Given the description of an element on the screen output the (x, y) to click on. 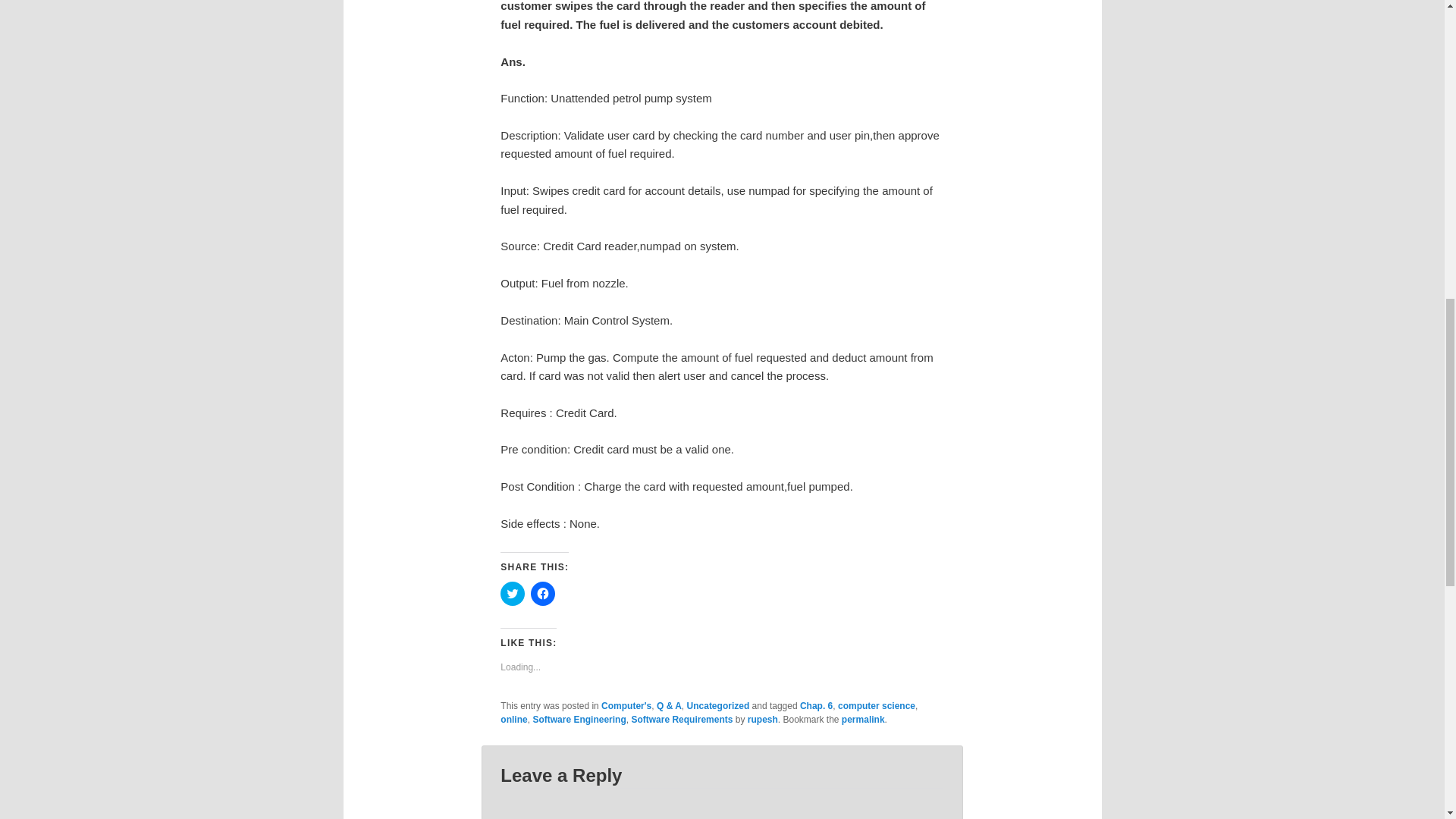
Uncategorized (718, 706)
Computer's (625, 706)
online (513, 719)
Click to share on Twitter (512, 593)
Chap. 6 (815, 706)
Click to share on Facebook (542, 593)
permalink (863, 719)
Comment Form (721, 803)
Software Engineering (579, 719)
